Given the description of an element on the screen output the (x, y) to click on. 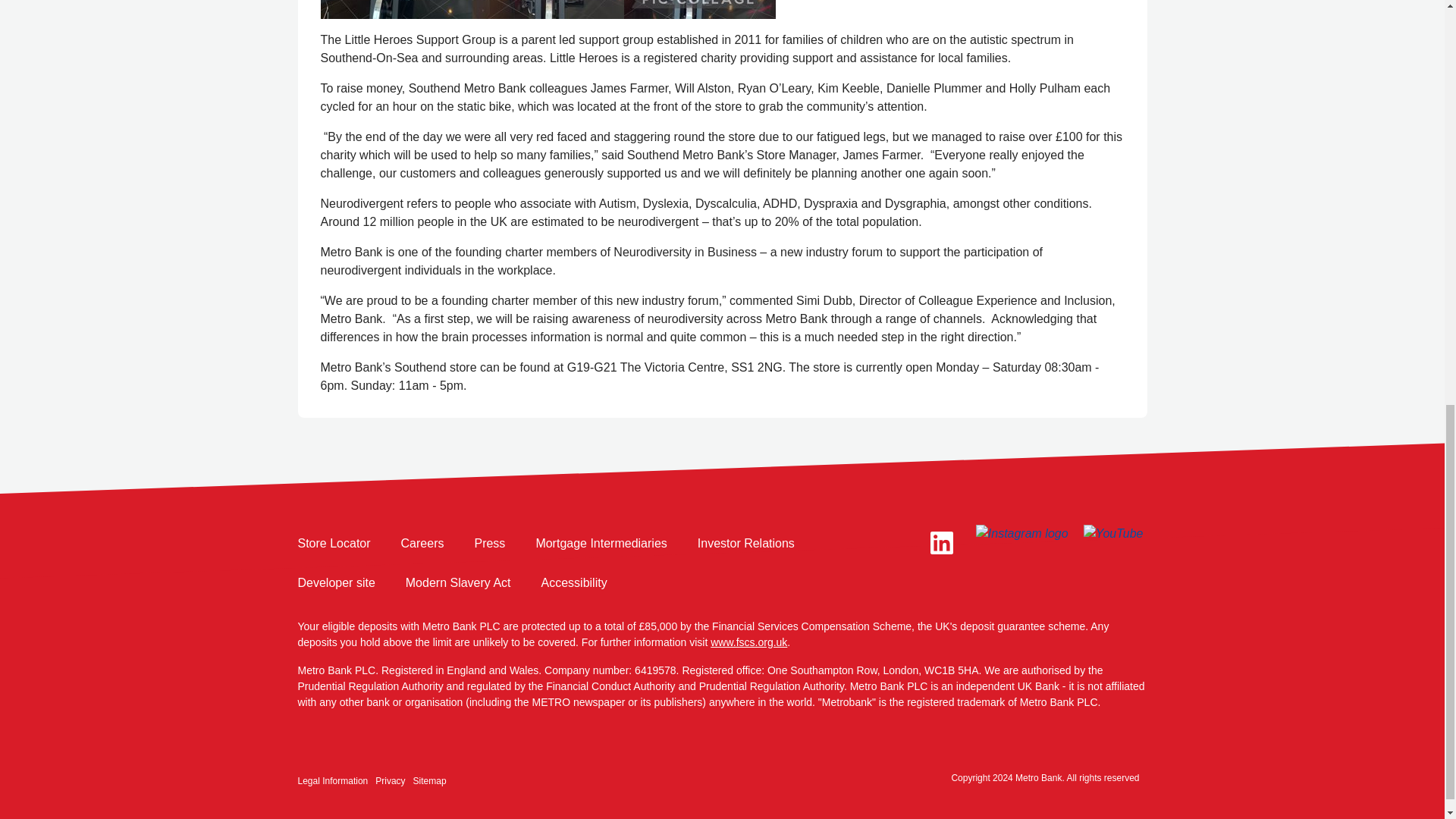
Store Locator (333, 543)
Careers (422, 543)
Accessibility (574, 582)
Developer site (335, 582)
FSCS Website (748, 642)
Mortgage Intermediaries (600, 543)
Modern Slavery Act (458, 582)
Investor Relations (745, 543)
